Given the description of an element on the screen output the (x, y) to click on. 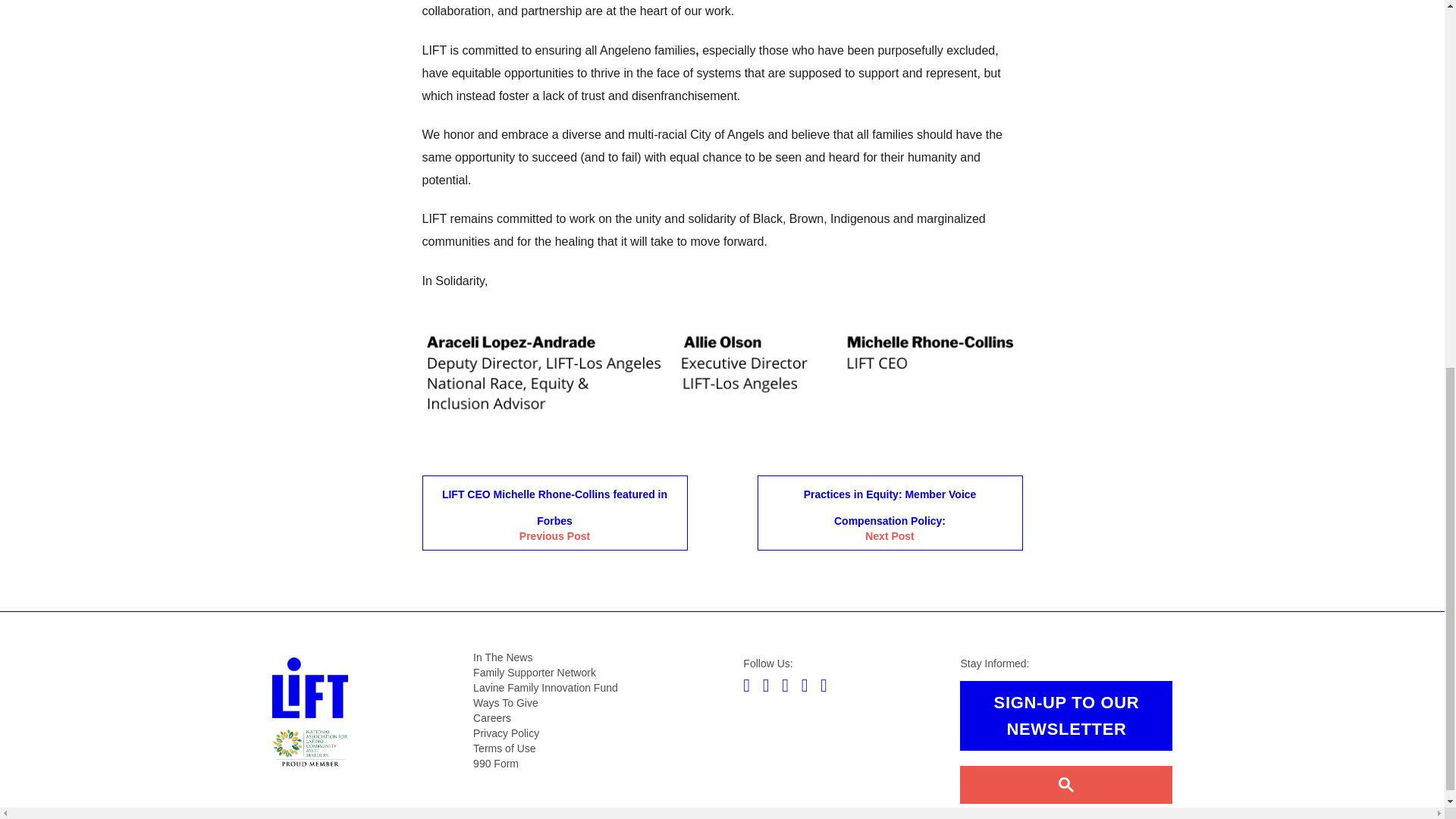
Privacy Policy (505, 733)
Terms of Use (504, 748)
Sign Up for Updates (1065, 715)
In The News (502, 657)
Careers (492, 717)
Ways To Give (505, 702)
Family Supporter Network (534, 672)
Practices in Equity: Member Voice Compensation Policy: (889, 512)
LIFT CEO Michelle Rhone-Collins featured in Forbes (554, 512)
Lavine Family Innovation Fund (545, 687)
